Given the description of an element on the screen output the (x, y) to click on. 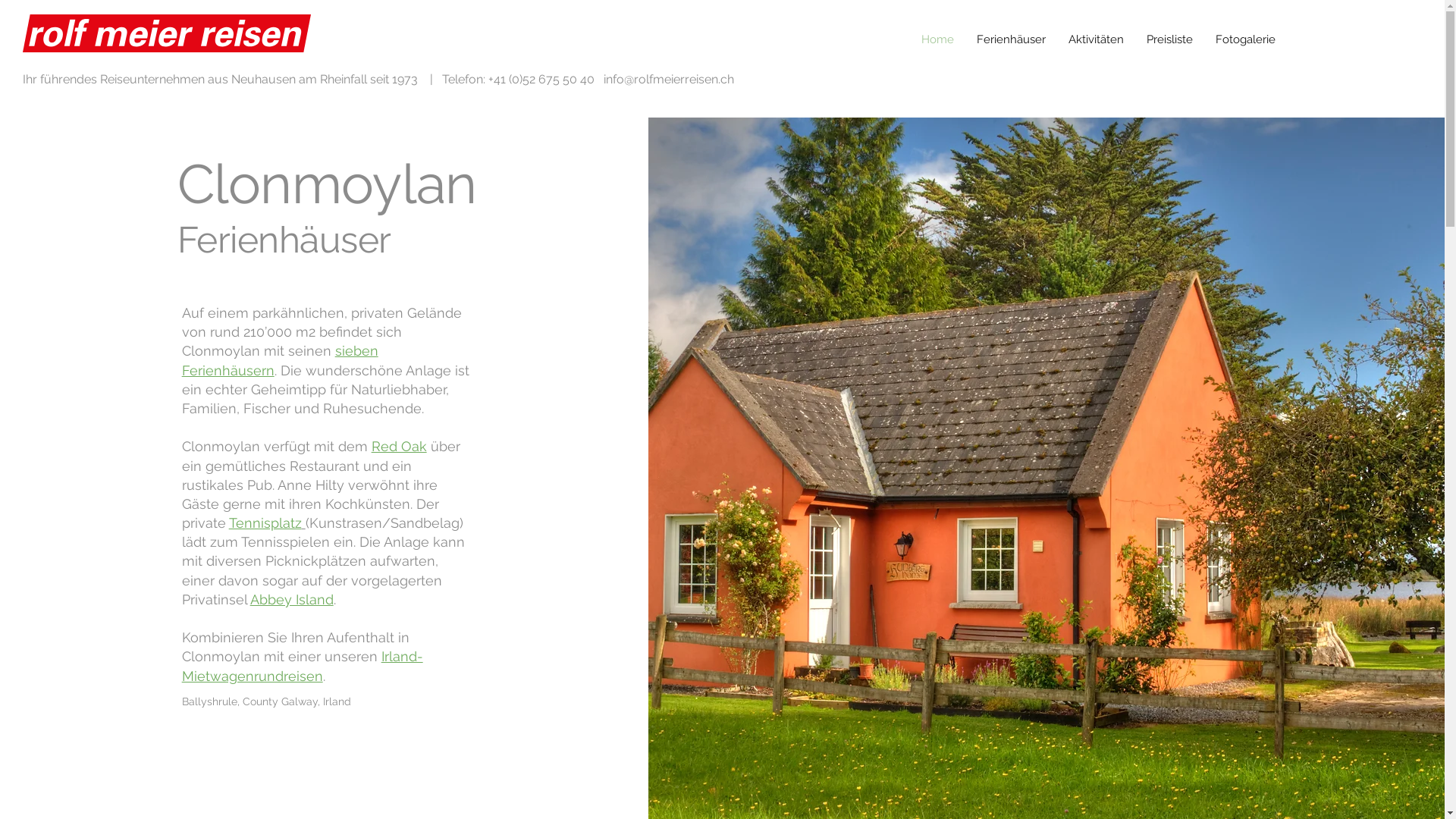
Red Oak Element type: text (398, 446)
Fotogalerie Element type: text (1245, 39)
Irland-Mietwagenrundreisen Element type: text (302, 665)
info@rolfmeierreisen.ch Element type: text (668, 79)
Preisliste Element type: text (1169, 39)
Abbey Island Element type: text (291, 599)
Tennisplatz Element type: text (265, 522)
Telefon: +41 (0)52 675 50 40 Element type: text (518, 79)
Home Element type: text (937, 39)
